Given the description of an element on the screen output the (x, y) to click on. 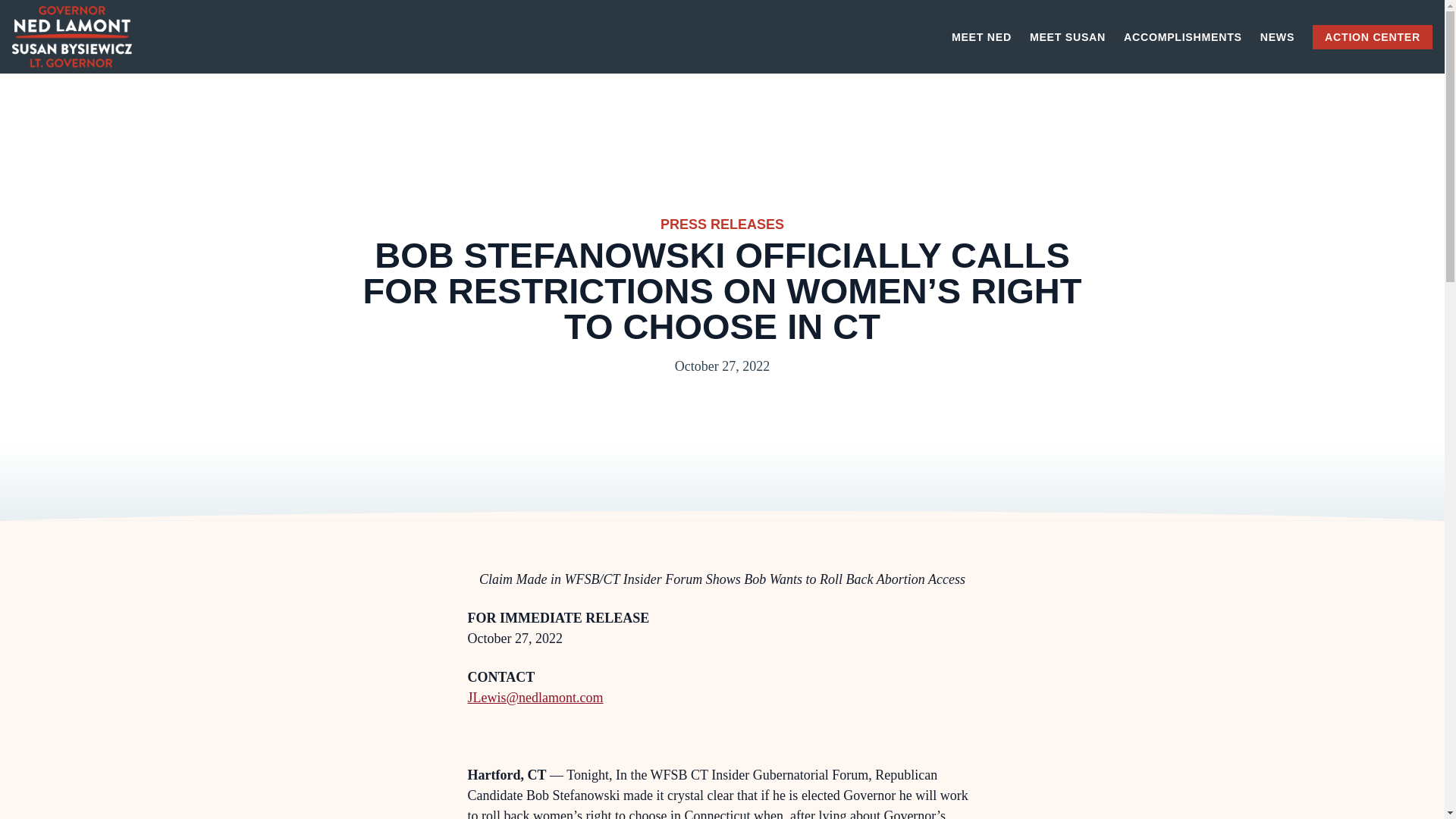
MEET NED (981, 37)
ACTION CENTER (1372, 37)
ACCOMPLISHMENTS (1182, 37)
NEWS (1277, 37)
MEET SUSAN (1067, 37)
